Given the description of an element on the screen output the (x, y) to click on. 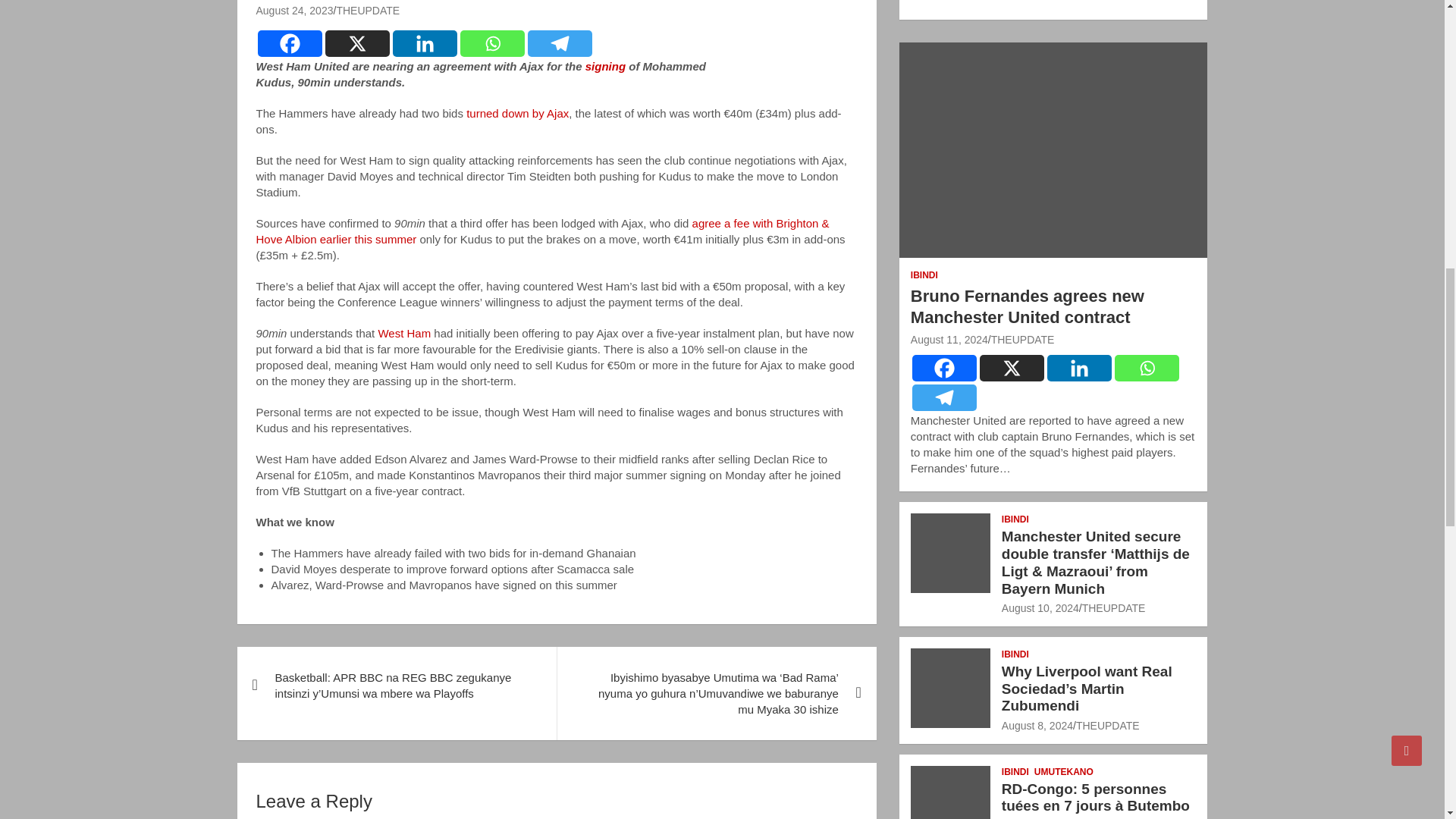
Telegram (559, 43)
Linkedin (425, 43)
X (356, 43)
Facebook (944, 367)
Bruno Fernandes agrees new Manchester United contract (949, 339)
Whatsapp (492, 43)
Whatsapp (1147, 367)
Linkedin (1079, 367)
X (1011, 367)
